Given the description of an element on the screen output the (x, y) to click on. 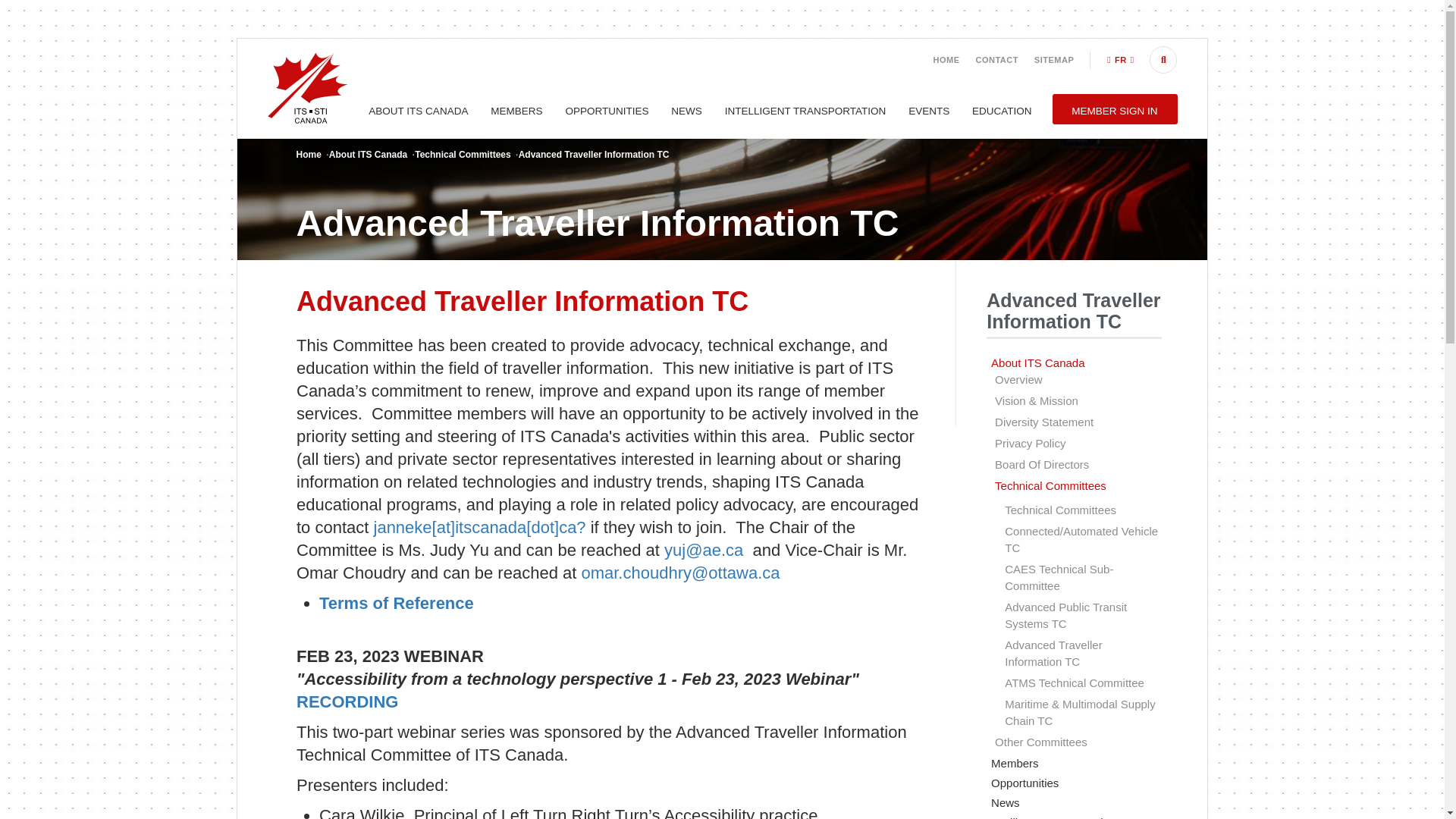
FR (1120, 59)
MEMBERS (515, 110)
INTELLIGENT TRANSPORTATION (805, 110)
SITEMAP (1053, 59)
CONTACT (996, 59)
OPPORTUNITIES (606, 110)
ABOUT ITS CANADA (418, 110)
NEWS (686, 110)
HOME (946, 59)
